Given the description of an element on the screen output the (x, y) to click on. 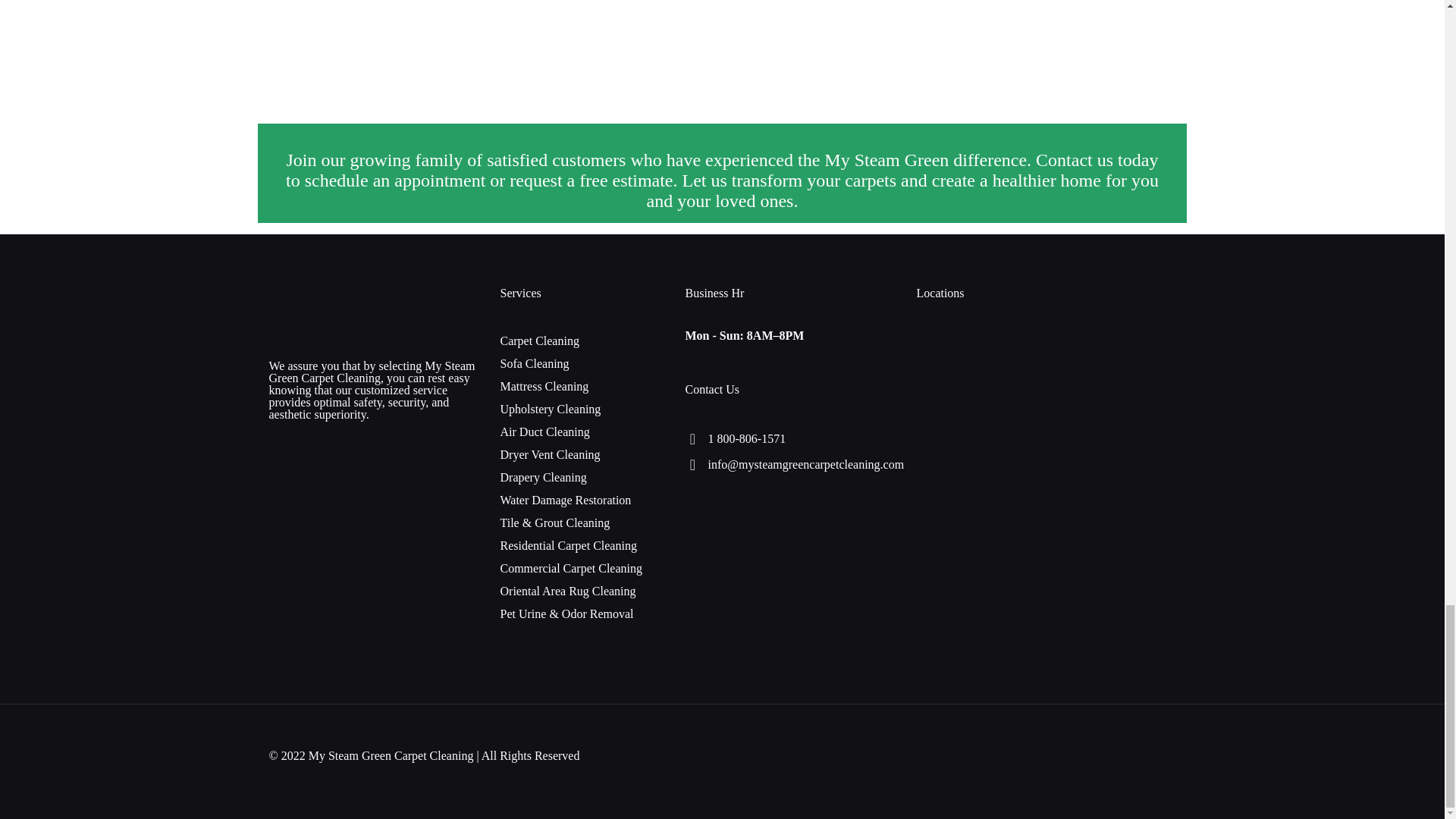
Brand Promise cleaner (490, 35)
